Given the description of an element on the screen output the (x, y) to click on. 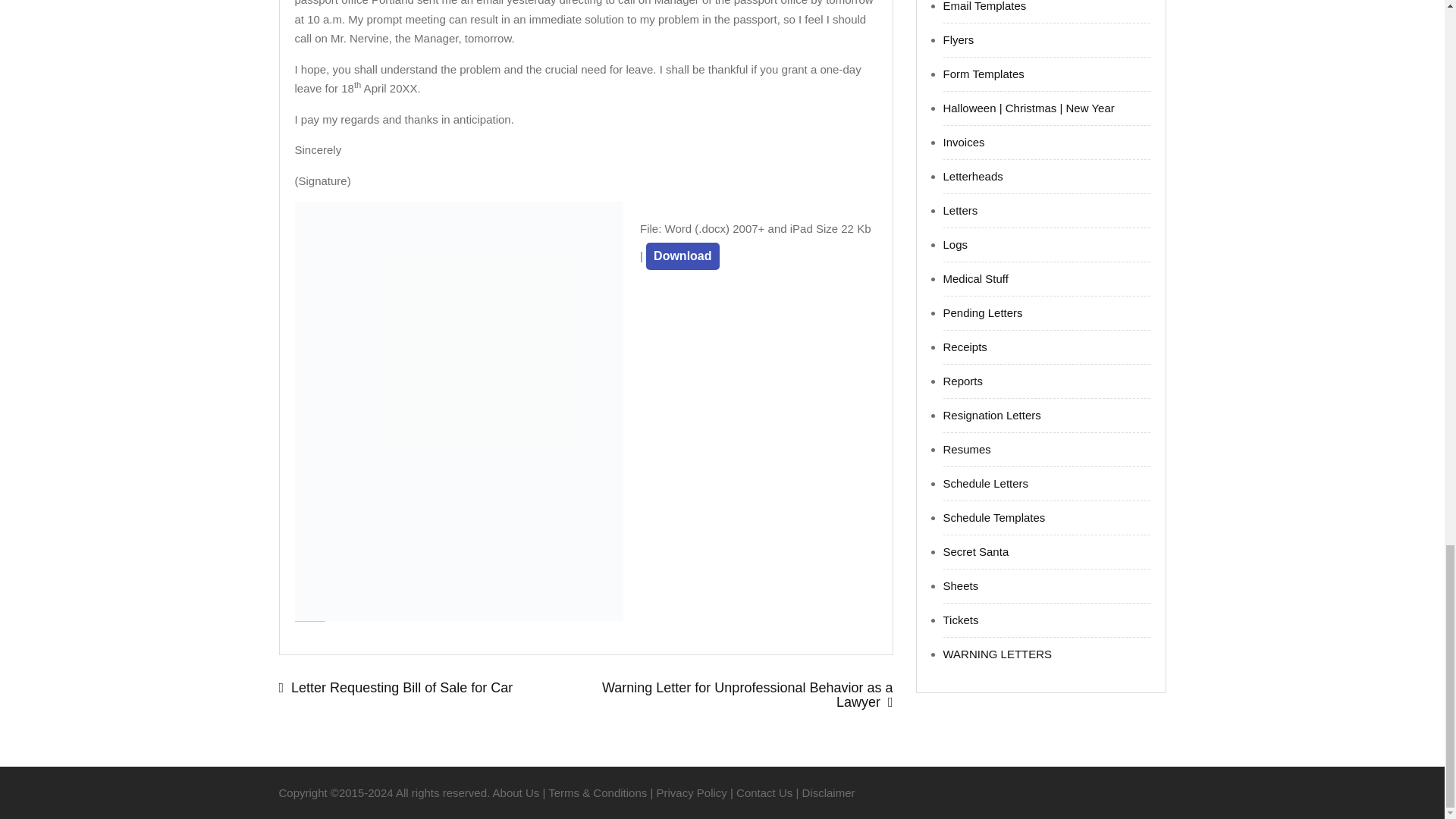
Download (682, 256)
Letter Requesting Bill of Sale for Car (432, 687)
Warning Letter for Unprofessional Behavior as a Lawyer (738, 695)
